Given the description of an element on the screen output the (x, y) to click on. 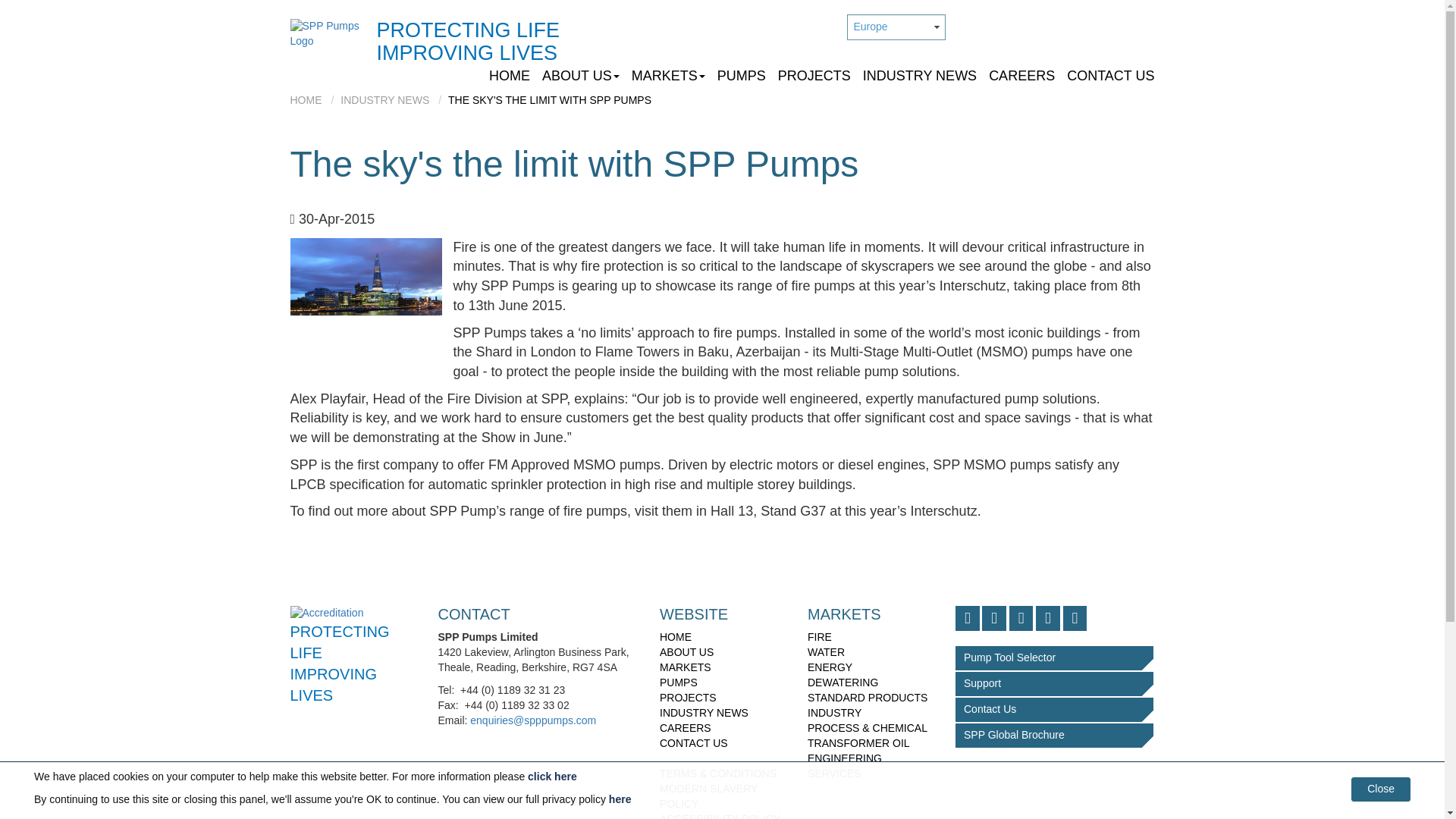
HOME (512, 75)
MARKETS (668, 75)
ABOUT US (580, 75)
